Given the description of an element on the screen output the (x, y) to click on. 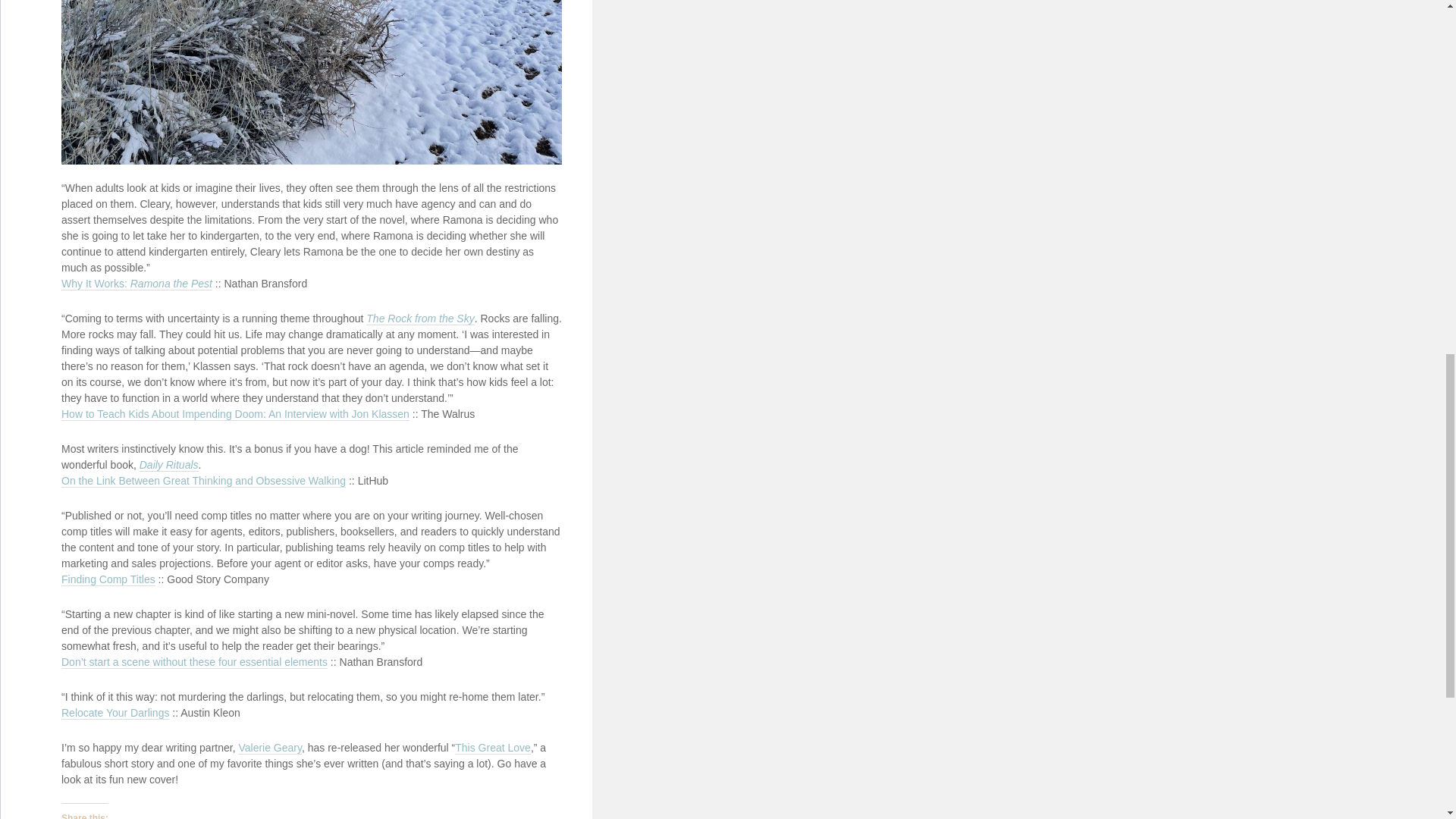
Why It Works: Ramona the Pest (136, 283)
Valerie Geary (269, 748)
Relocate Your Darlings (114, 712)
Finding Comp Titles (108, 579)
This Great Love (492, 748)
On the Link Between Great Thinking and Obsessive Walking (203, 481)
The Rock from the Sky (420, 318)
Daily Rituals (168, 464)
